Given the description of an element on the screen output the (x, y) to click on. 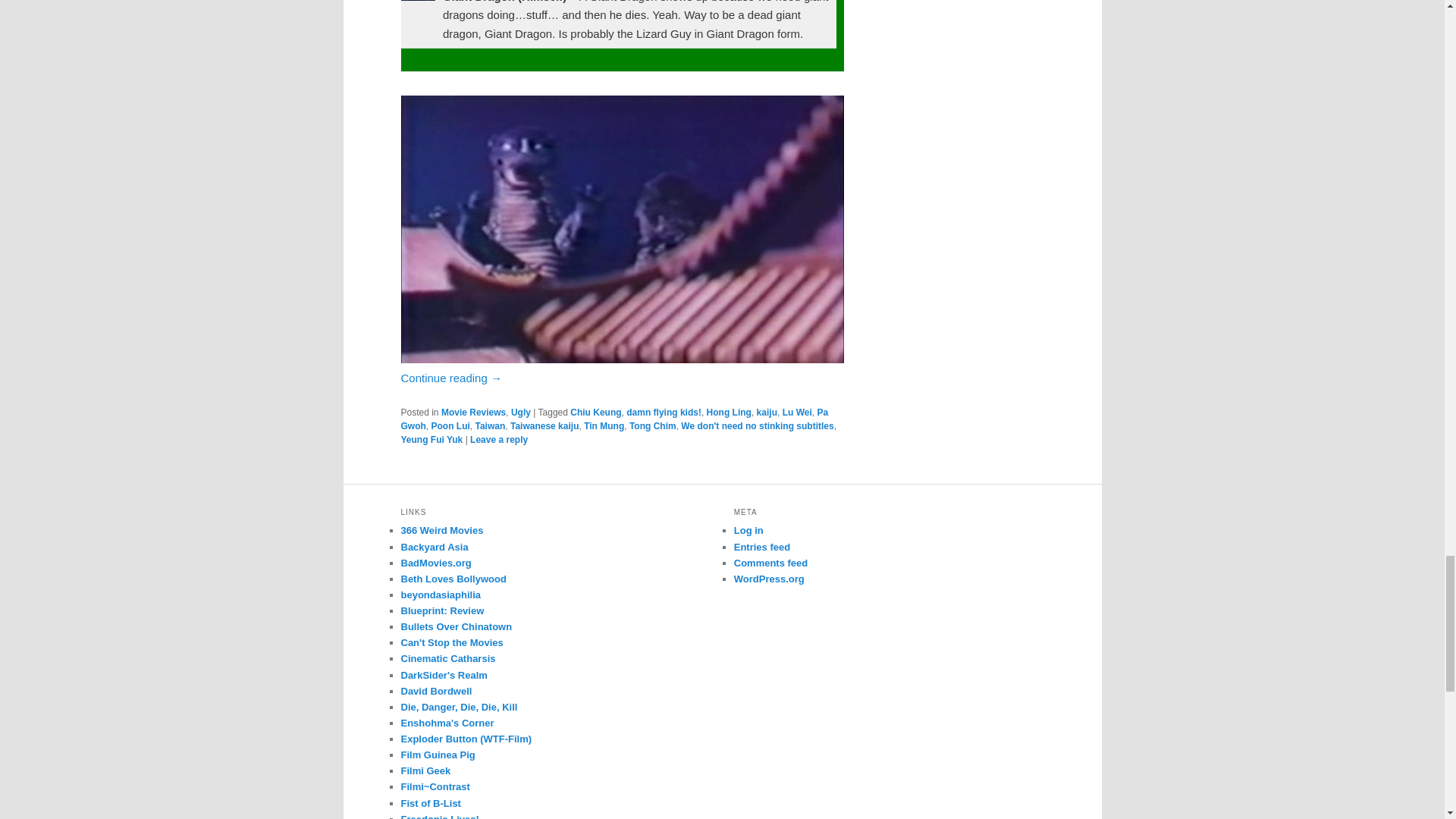
Chiu Keung (595, 412)
Lu Wei (797, 412)
Tong Chim (652, 425)
Pa Gwoh (614, 419)
Tin Mung (603, 425)
Movie Reviews (473, 412)
kaiju (767, 412)
damn flying kids! (663, 412)
We don't need no stinking subtitles (756, 425)
Hong Ling (728, 412)
Yeung Fui Yuk (431, 439)
Taiwanese kaiju (545, 425)
Taiwan (489, 425)
Leave a reply (498, 439)
Ugly (521, 412)
